Given the description of an element on the screen output the (x, y) to click on. 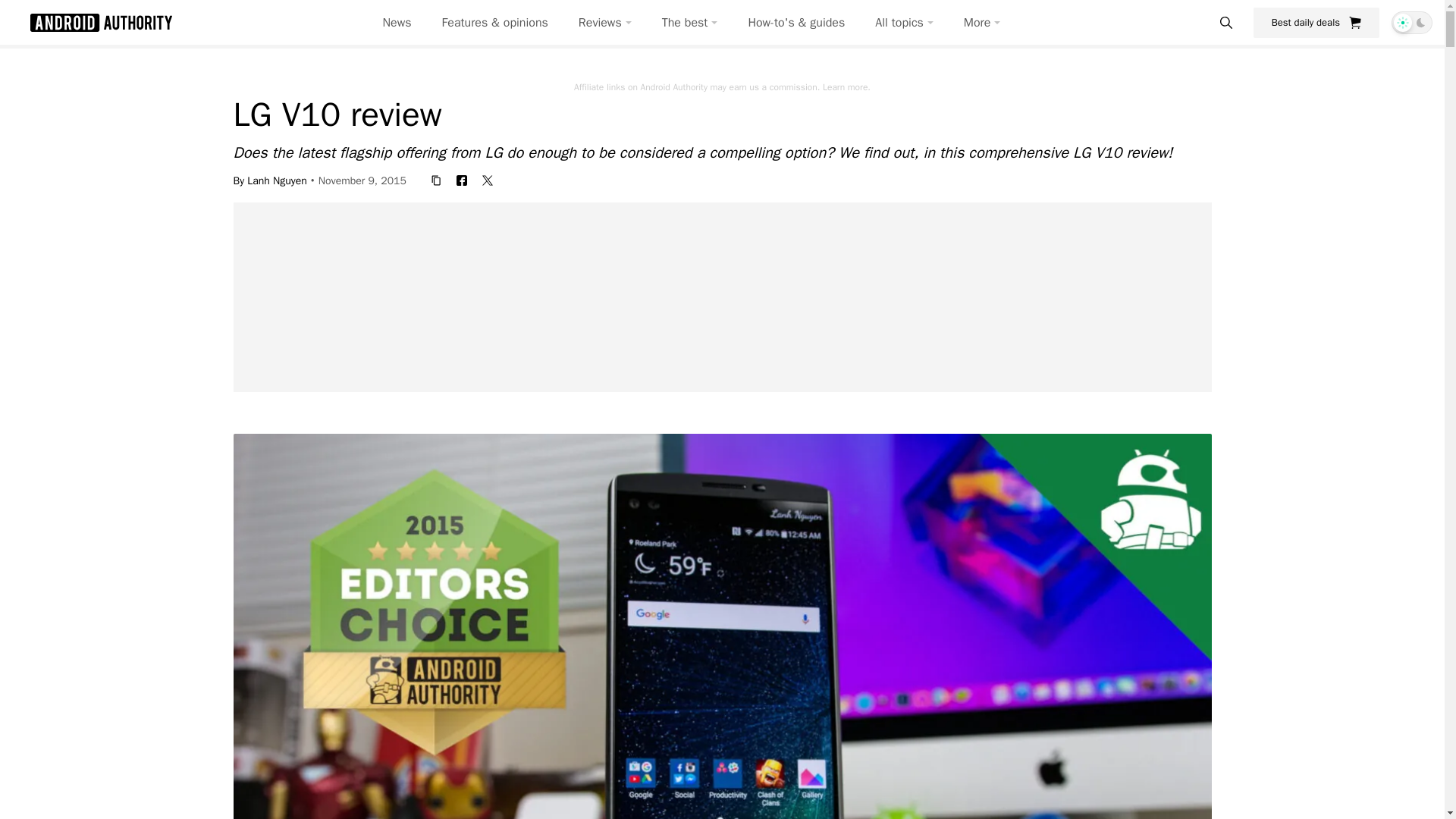
twitter (487, 180)
Learn more. (846, 86)
Best daily deals (1315, 22)
Lanh Nguyen (277, 180)
All topics (904, 22)
The best (689, 22)
facebook (461, 180)
Reviews (604, 22)
